Given the description of an element on the screen output the (x, y) to click on. 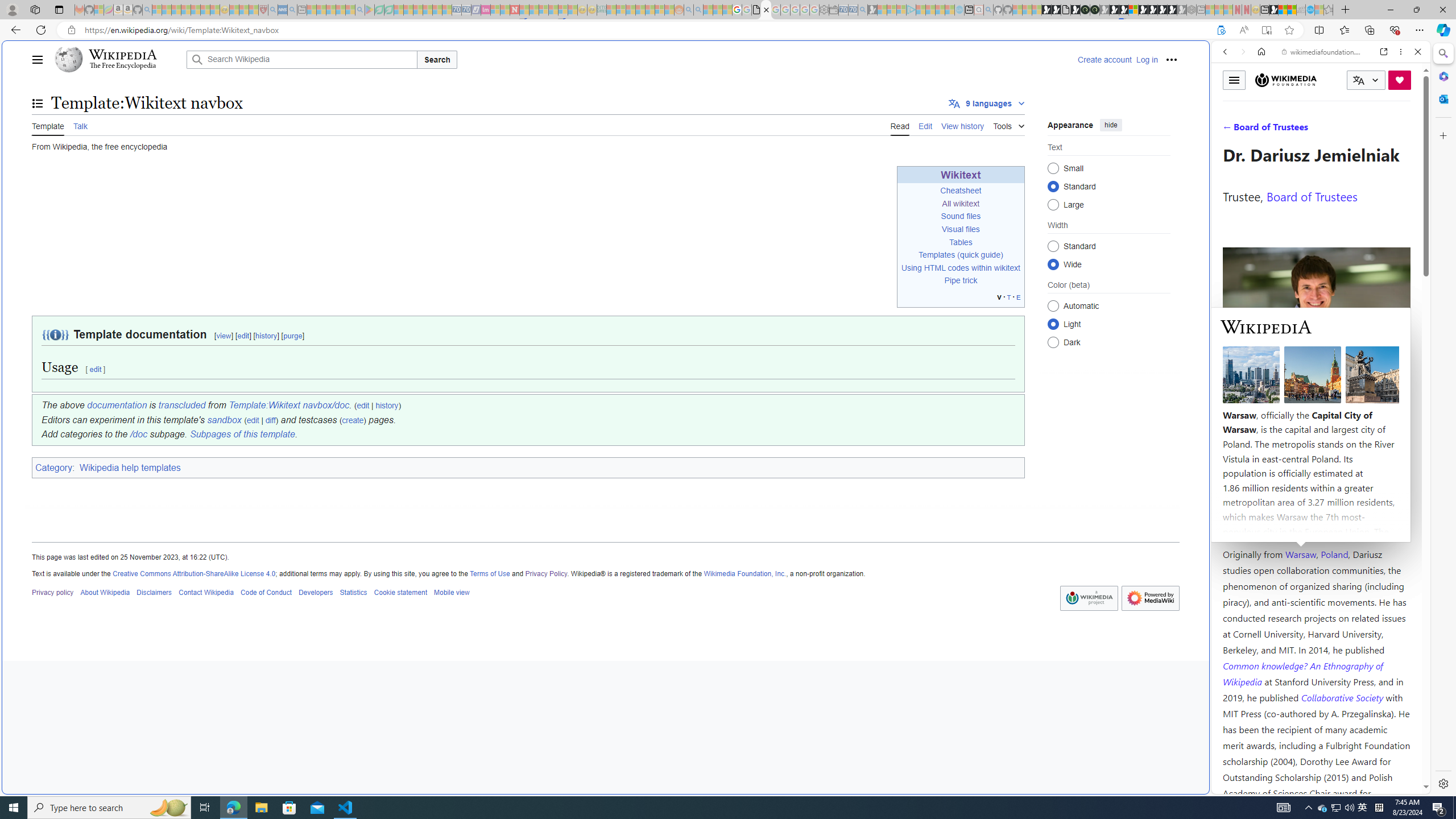
Talk (79, 124)
Using HTML codes within wikitext (960, 267)
CURRENT LANGUAGE: (1366, 80)
Template:Wikitext navbox/doc (288, 405)
Edit (925, 124)
Standard (1053, 245)
AutomationID: footer-copyrightico (1088, 598)
